Given the description of an element on the screen output the (x, y) to click on. 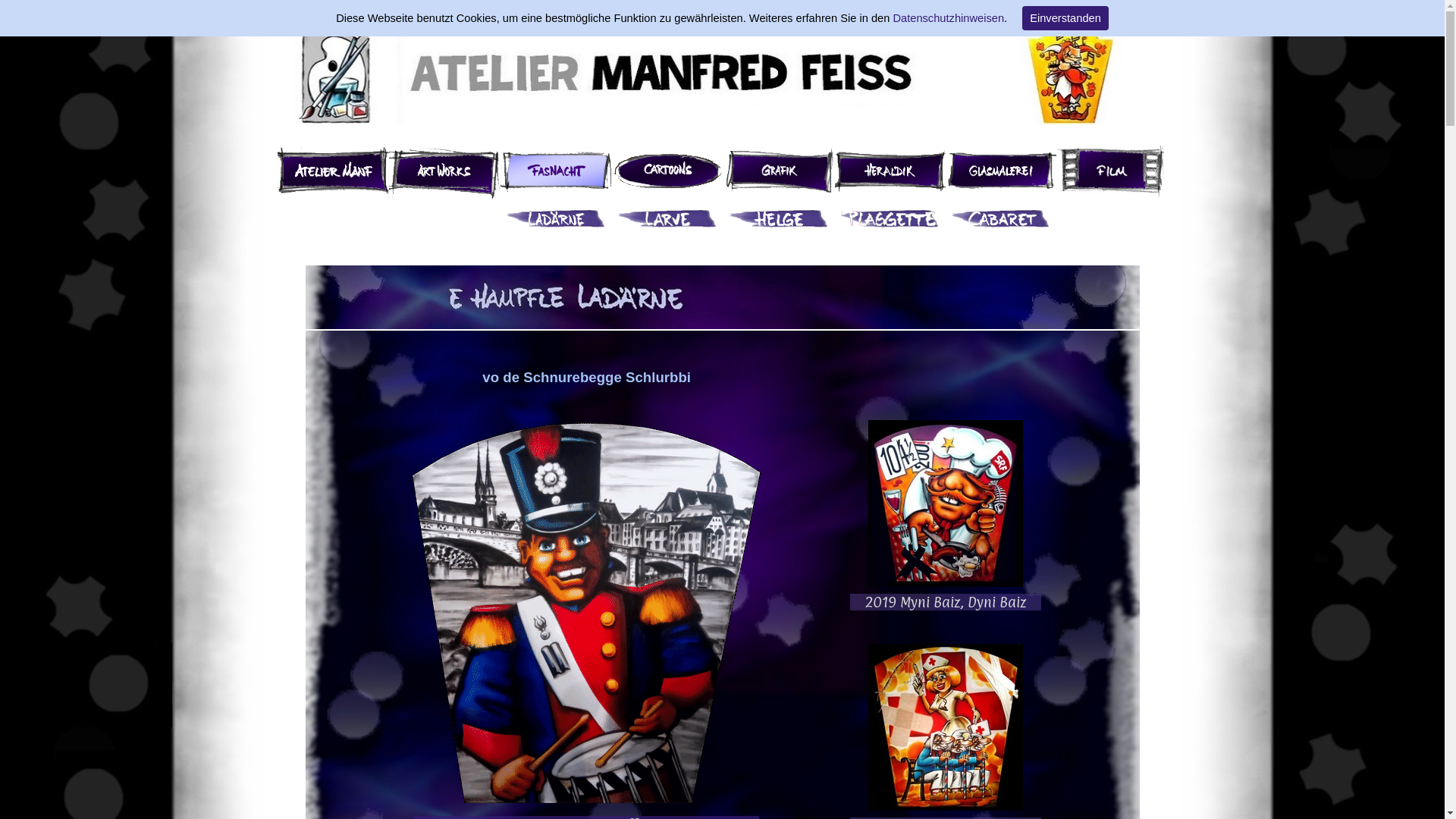
Datenschutzhinweisen Element type: text (948, 18)
2019 Myni Baiz, Dyni Baiz Element type: text (945, 514)
